Given the description of an element on the screen output the (x, y) to click on. 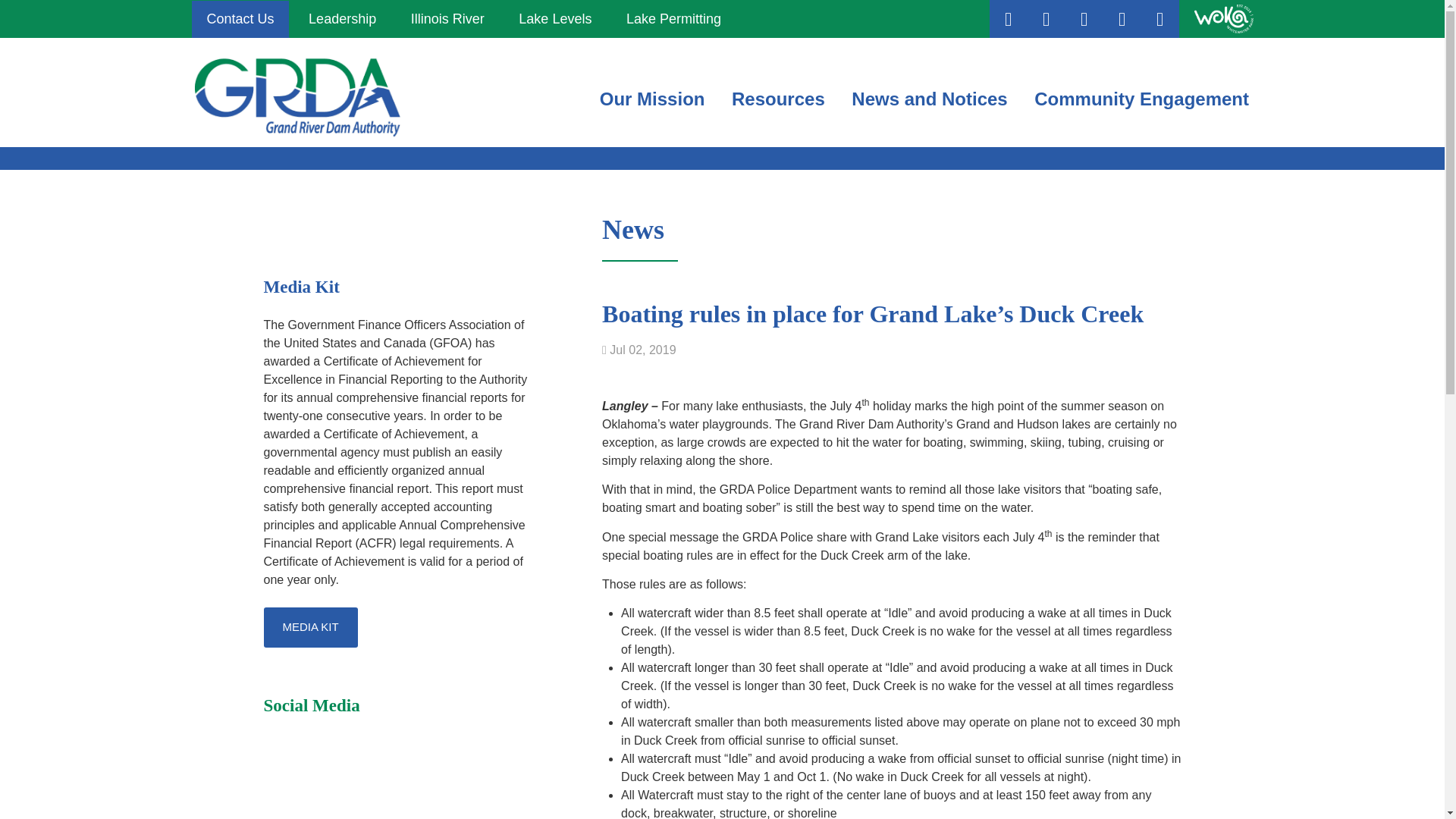
Leadership (342, 18)
Lake Permitting (673, 18)
Illinois River (447, 18)
Lake Levels (555, 18)
Contact Us (239, 18)
